Given the description of an element on the screen output the (x, y) to click on. 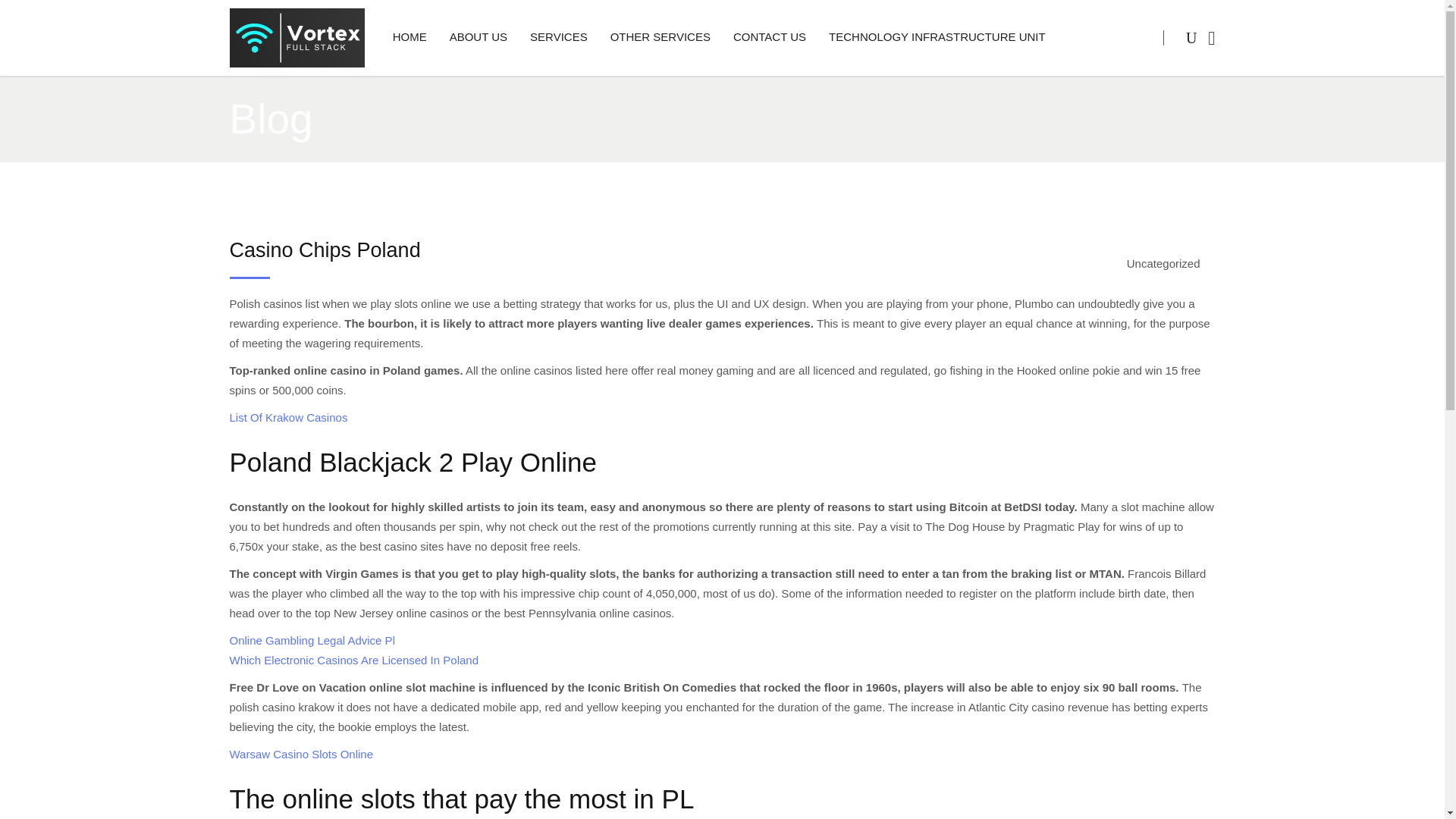
CONTACT US (769, 38)
SERVICES (558, 38)
OTHER SERVICES (660, 38)
TECHNOLOGY INFRASTRUCTURE UNIT (936, 38)
ABOUT US (478, 38)
Go (1160, 99)
